Given the description of an element on the screen output the (x, y) to click on. 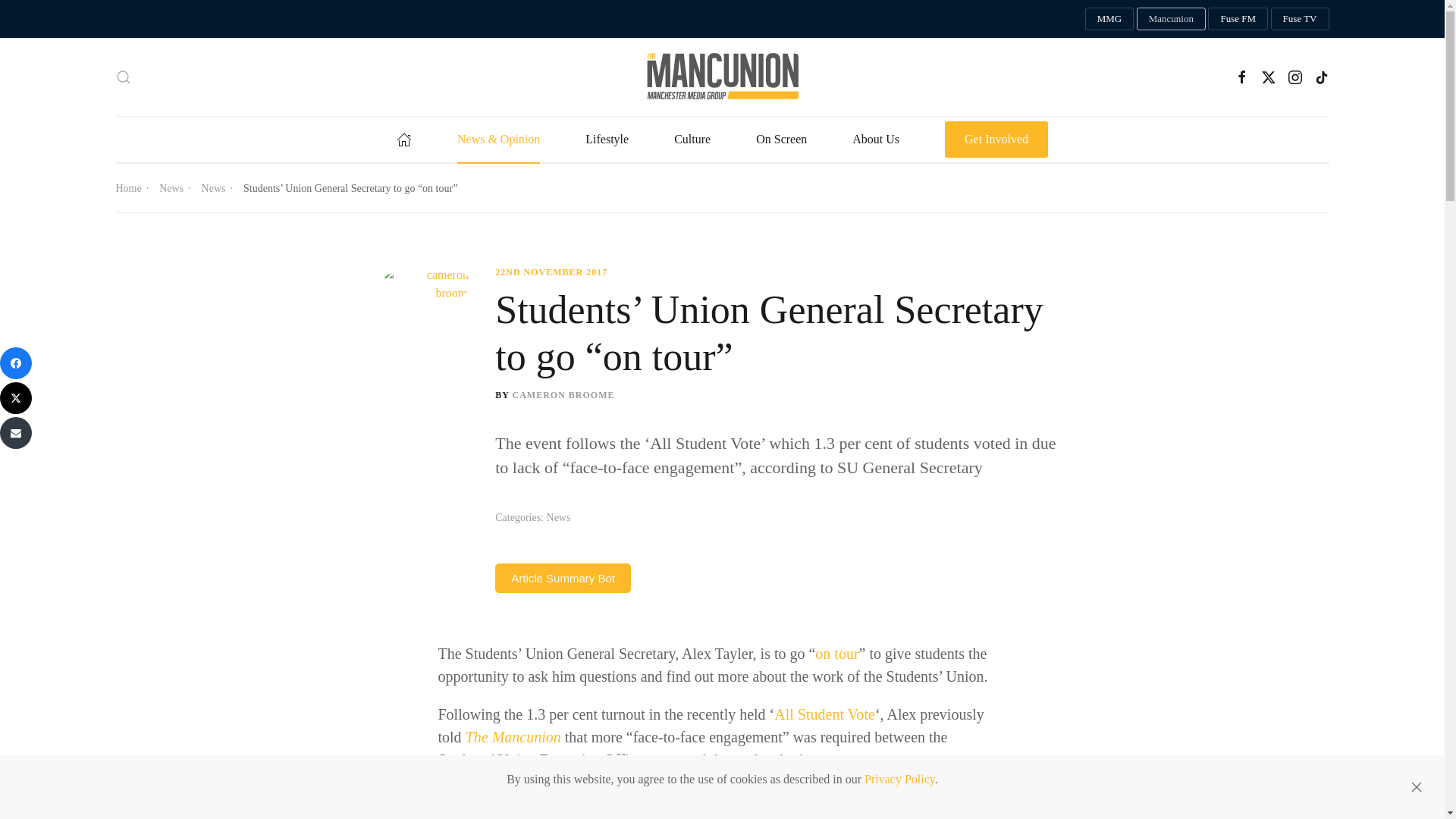
Manchester Fuse TV (1300, 18)
MMG (1109, 18)
Fuse TV (1300, 18)
Manchester University Mancunion Newspaper (1171, 18)
Fuse FM (1238, 18)
Posts by Cameron Broome (563, 394)
Manchester Fuse FM (1238, 18)
Manchester Media Group (1109, 18)
Mancunion (1171, 18)
